Given the description of an element on the screen output the (x, y) to click on. 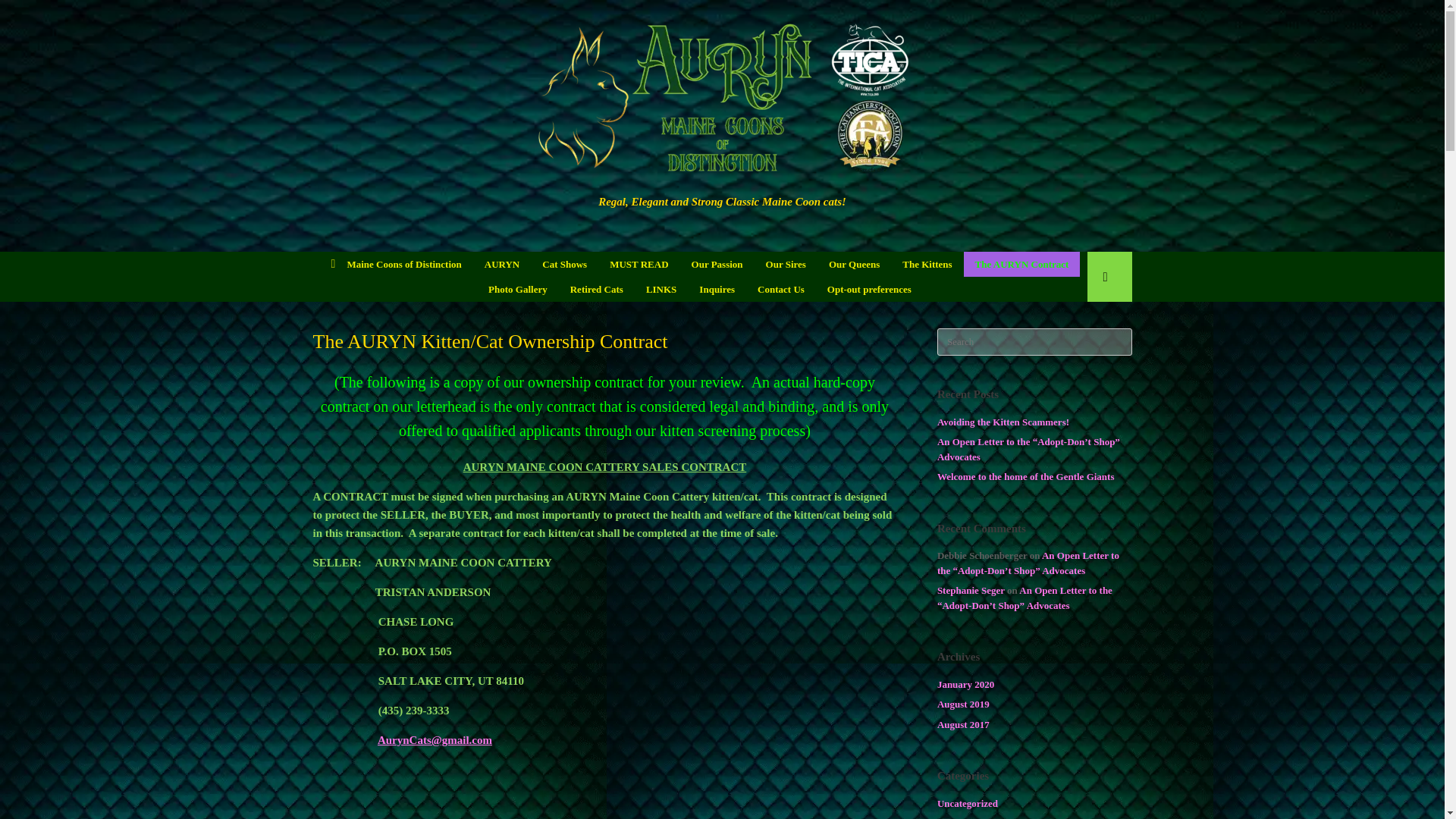
Welcome to the home of the Gentle Giants (1026, 476)
January 2020 (965, 683)
AURYN (502, 263)
Retired Cats (596, 289)
Our Queens (853, 263)
Cat Shows (564, 263)
LINKS (660, 289)
The AURYN Contract (1021, 263)
Stephanie Seger (970, 590)
Photo Gallery (518, 289)
Uncategorized (967, 803)
The Kittens (926, 263)
Maine Coons of Distinction (396, 263)
Our Sires (785, 263)
Our Passion (716, 263)
